Given the description of an element on the screen output the (x, y) to click on. 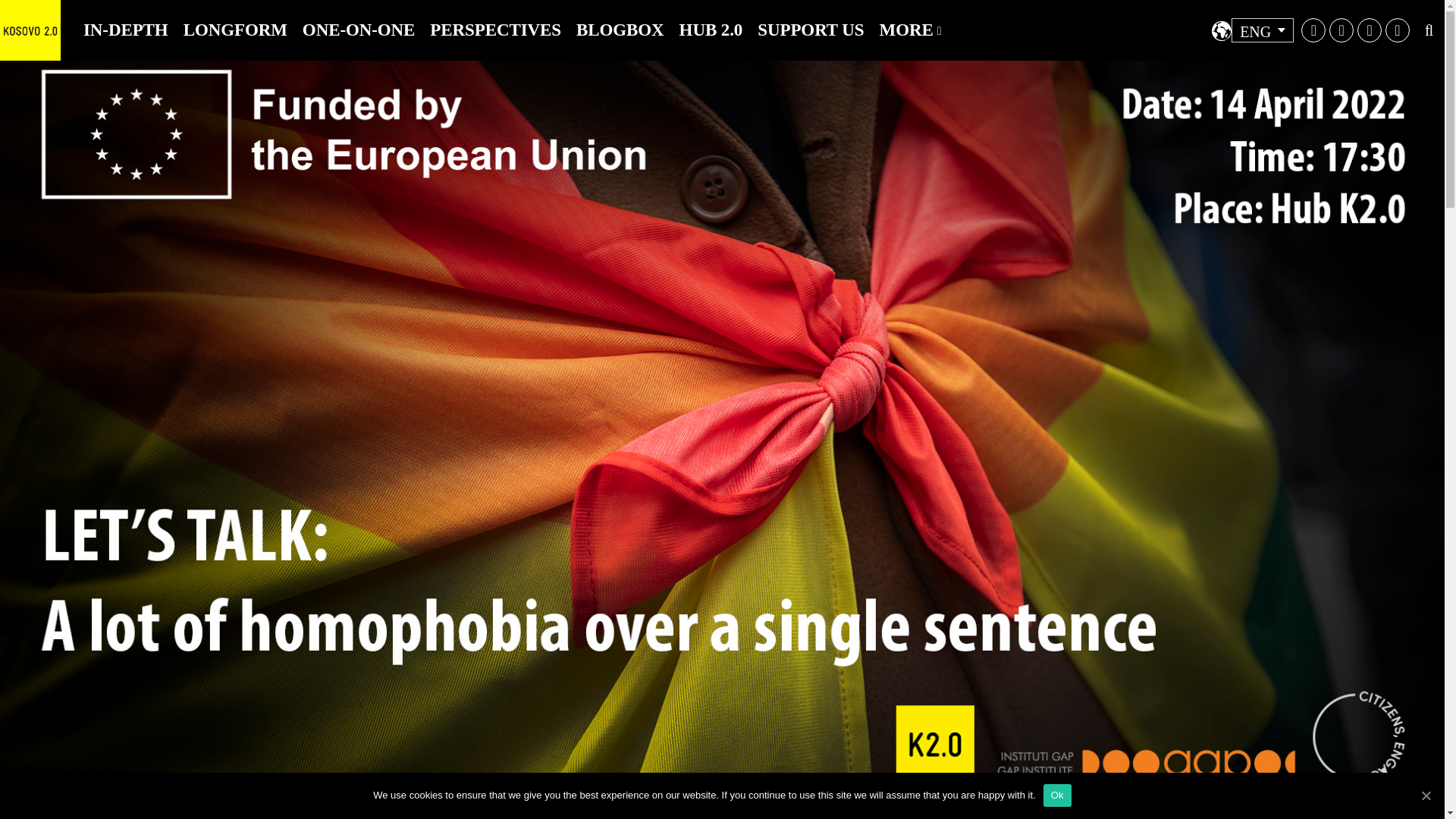
PERSPECTIVES (495, 30)
ONE-ON-ONE (359, 30)
MORE (910, 30)
HUB 2.0 (711, 30)
SUPPORT US (809, 30)
BLOGBOX (620, 30)
IN-DEPTH (125, 30)
ENG (1262, 29)
LONGFORM (235, 30)
